Given the description of an element on the screen output the (x, y) to click on. 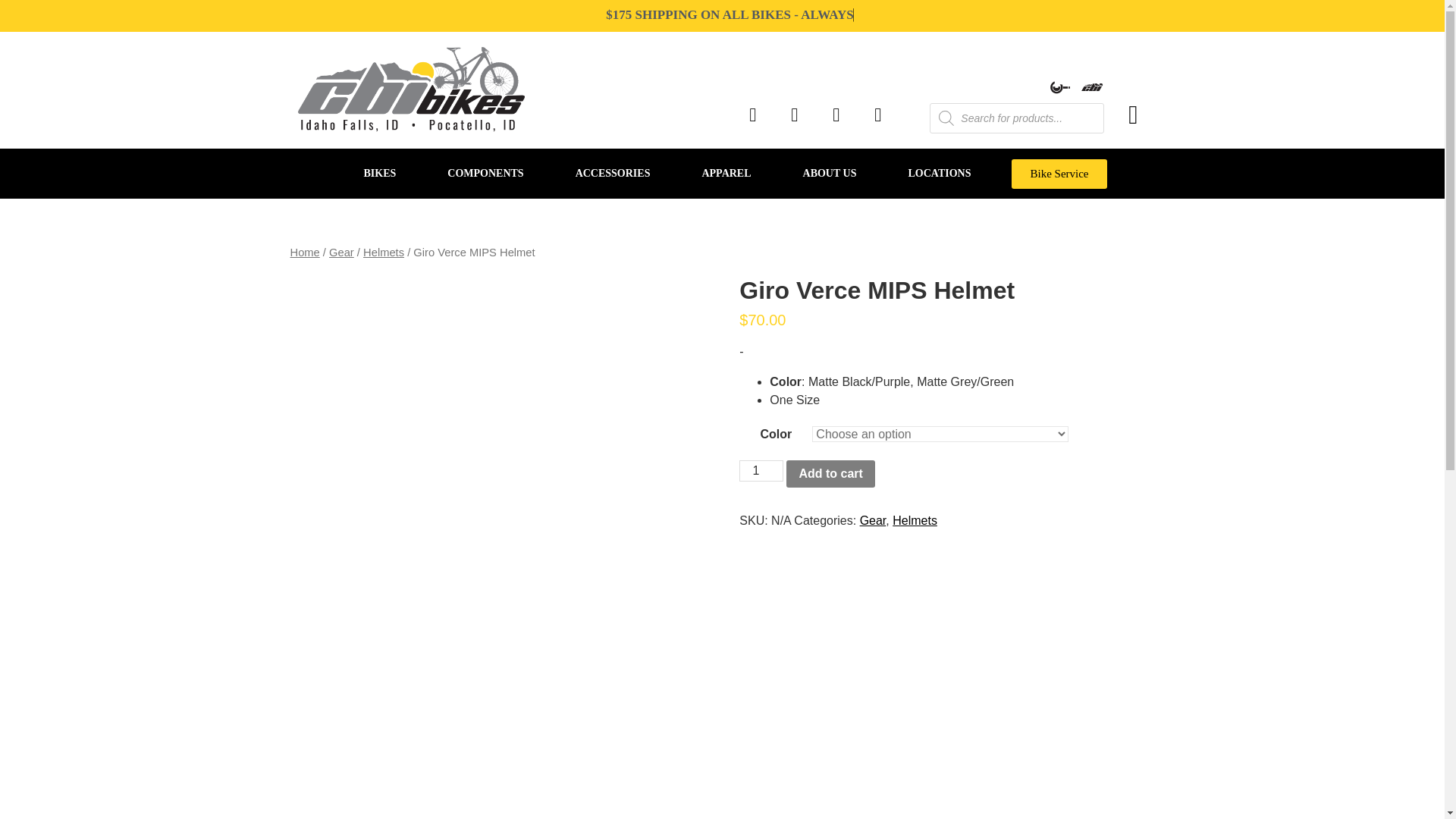
COMPONENTS (485, 173)
1 (761, 470)
ACCESSORIES (613, 173)
BIKES (379, 173)
